Given the description of an element on the screen output the (x, y) to click on. 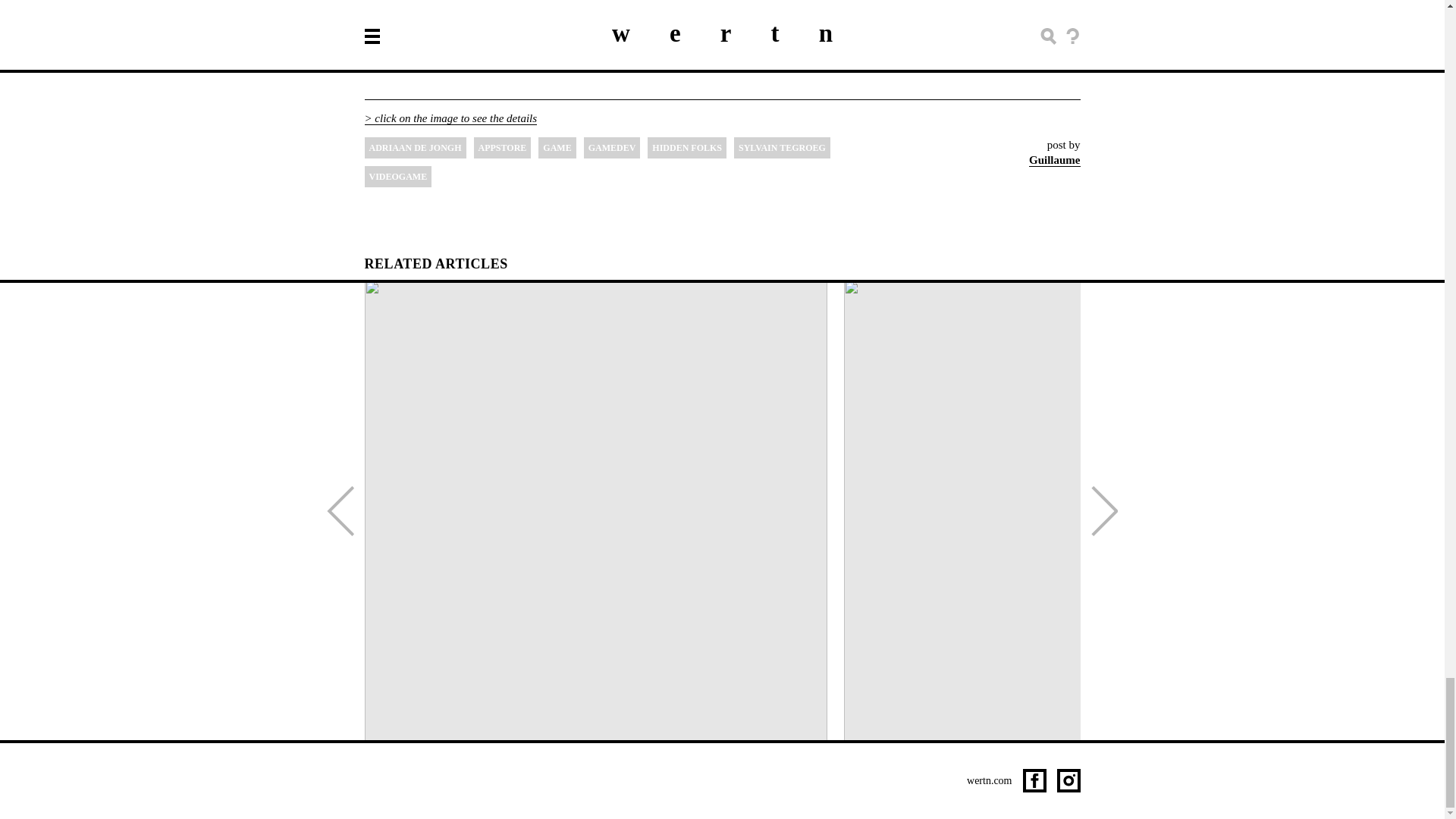
VIDEOGAME (397, 176)
Guillaume (1054, 159)
GAME (556, 147)
APPSTORE (502, 147)
SYLVAIN TEGROEG (781, 147)
ADRIAAN DE JONGH (414, 147)
HIDDEN FOLKS (686, 147)
GAMEDEV (611, 147)
